Given the description of an element on the screen output the (x, y) to click on. 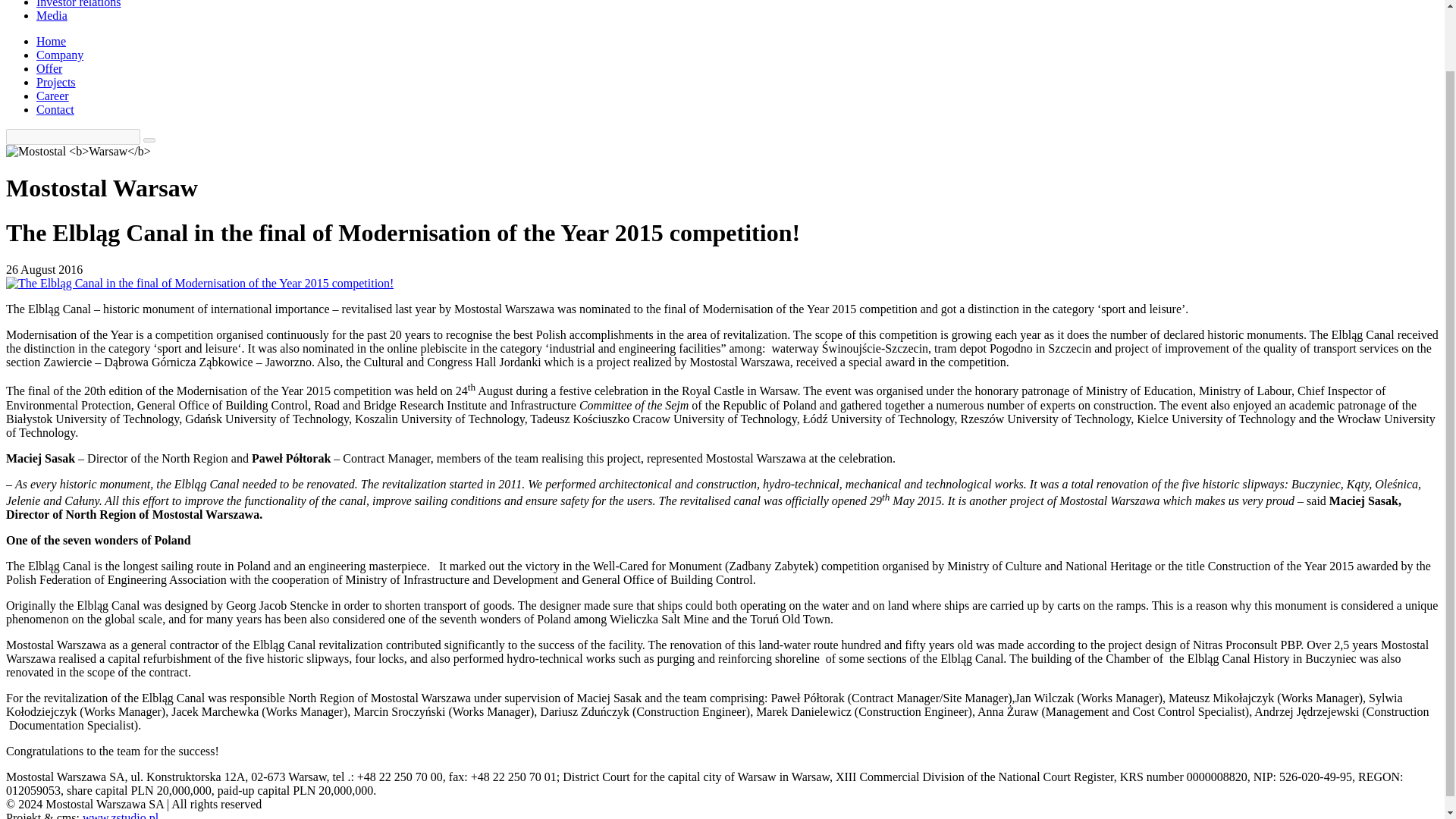
Home (50, 41)
Offer (49, 68)
Projects (55, 82)
Career (52, 95)
Company (59, 54)
Contact (55, 109)
Media (51, 15)
Investor relations (78, 4)
